Given the description of an element on the screen output the (x, y) to click on. 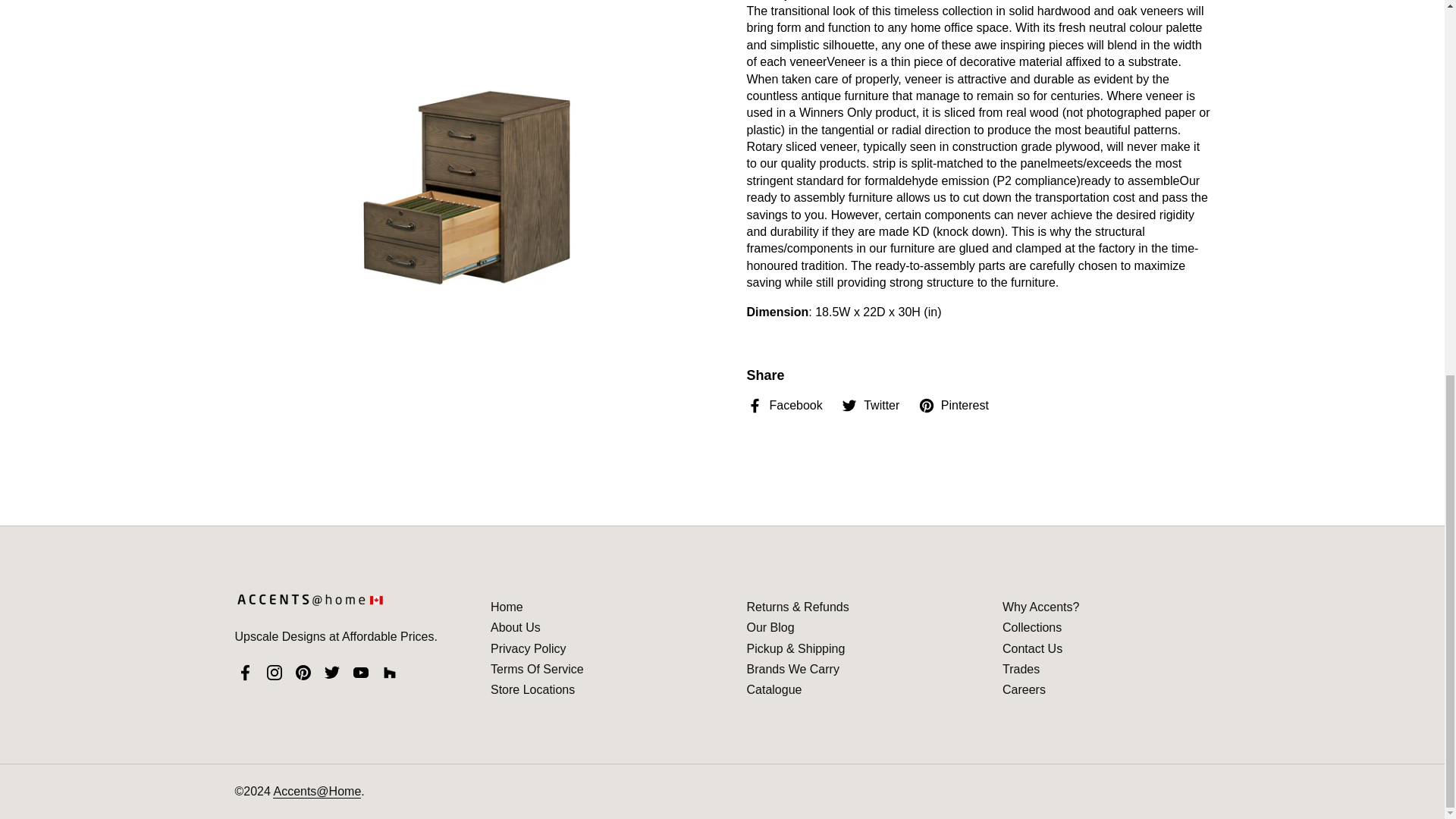
Share on pinterest (953, 405)
Share on twitter (870, 405)
Share on facebook (783, 405)
